Given the description of an element on the screen output the (x, y) to click on. 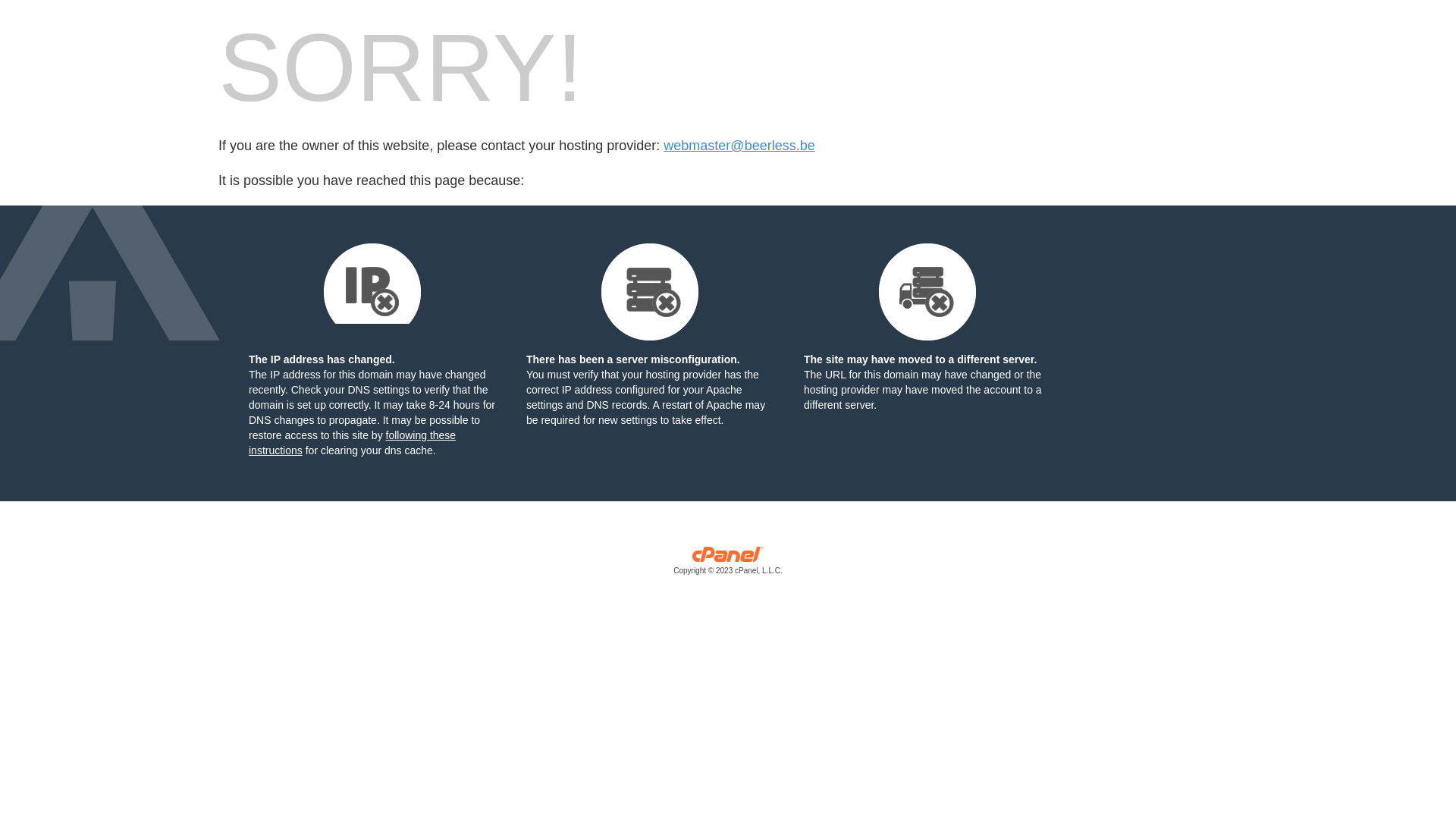
webmaster@beerless.be Element type: text (738, 145)
following these instructions Element type: text (351, 442)
